Given the description of an element on the screen output the (x, y) to click on. 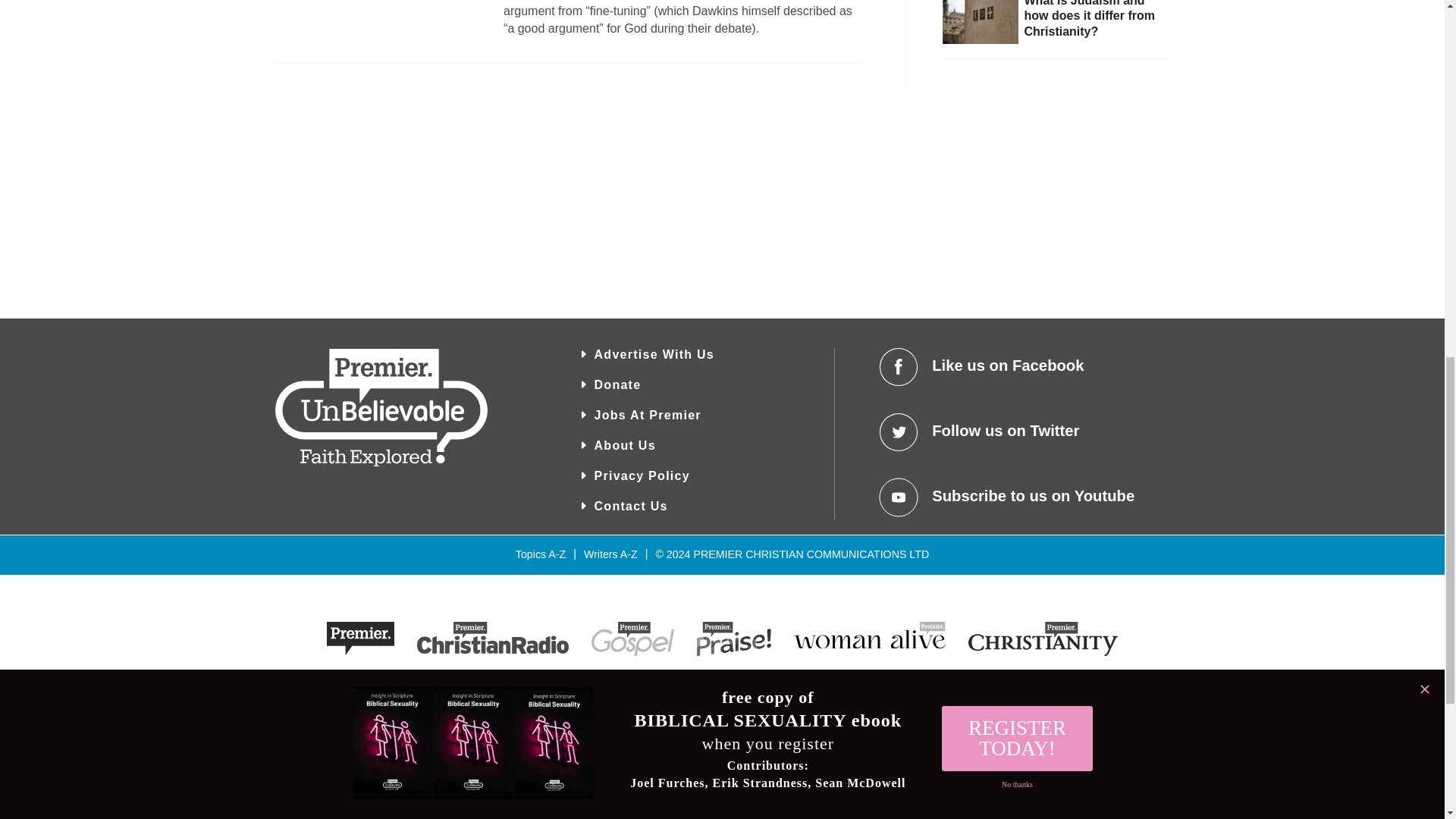
3rd party ad content (1055, 190)
